Given the description of an element on the screen output the (x, y) to click on. 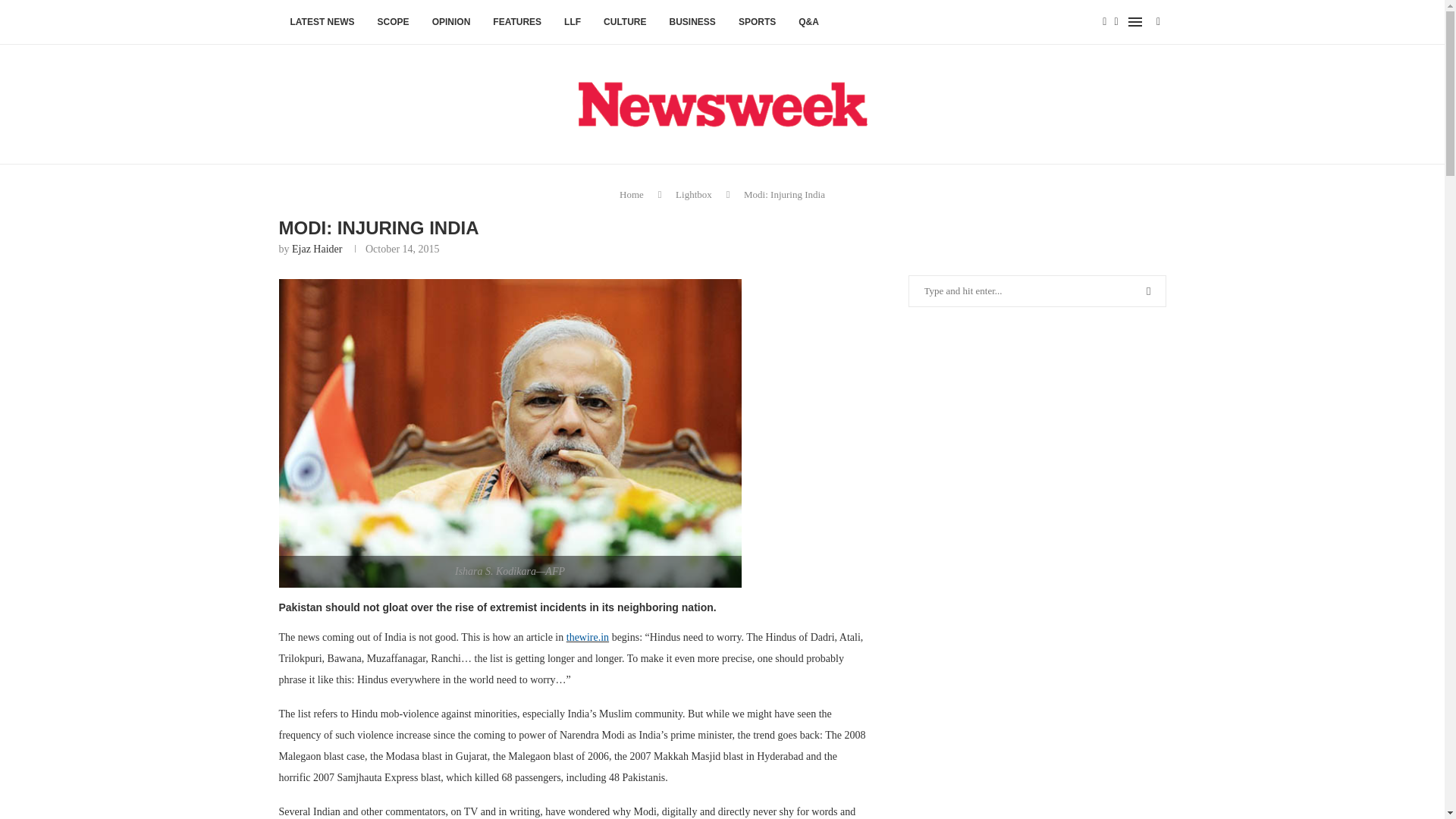
LATEST NEWS (322, 22)
OPINION (450, 22)
SCOPE (393, 22)
CULTURE (625, 22)
Home (631, 194)
Ejaz Haider (317, 248)
Advertisement (1037, 458)
Lightbox (693, 194)
BUSINESS (692, 22)
FEATURES (517, 22)
